Given the description of an element on the screen output the (x, y) to click on. 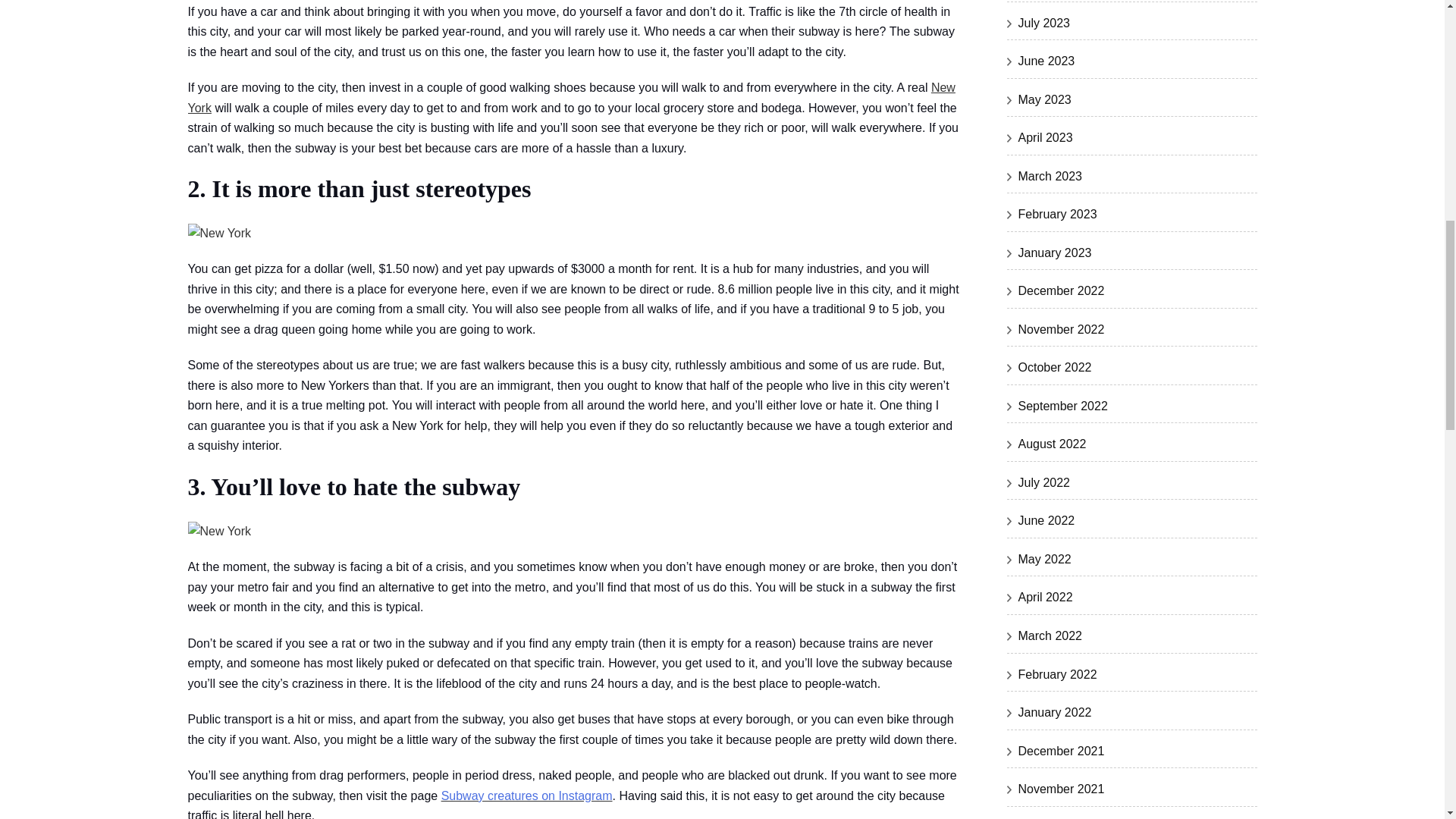
Subway creatures on Instagram (526, 795)
New York (571, 97)
